Given the description of an element on the screen output the (x, y) to click on. 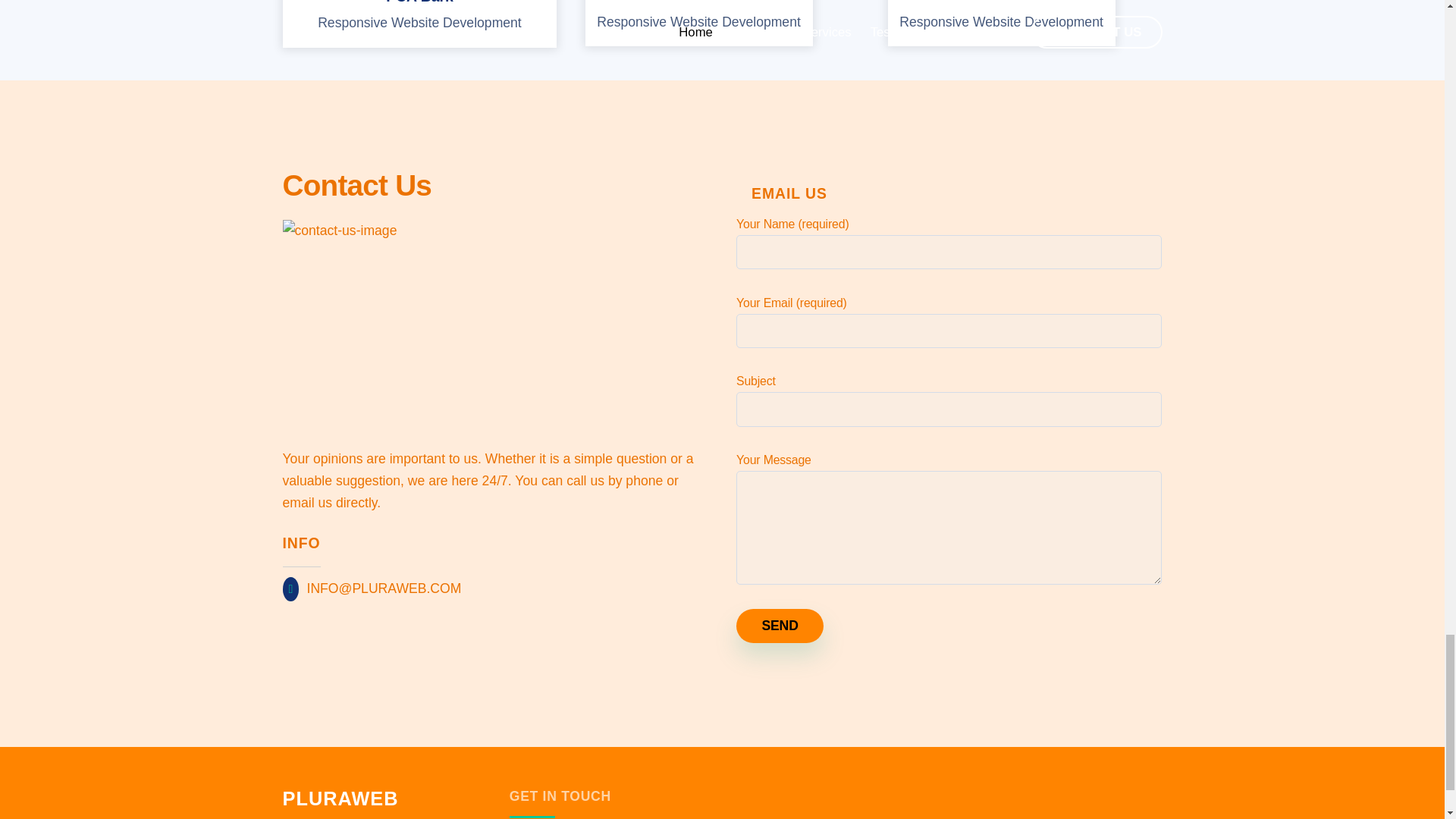
Pluranet (698, 1)
Send (780, 626)
PLURAWEB (339, 798)
Send (780, 626)
PCA Pet Services (1001, 1)
Pluraweb (339, 798)
PCA Bark (418, 2)
